Given the description of an element on the screen output the (x, y) to click on. 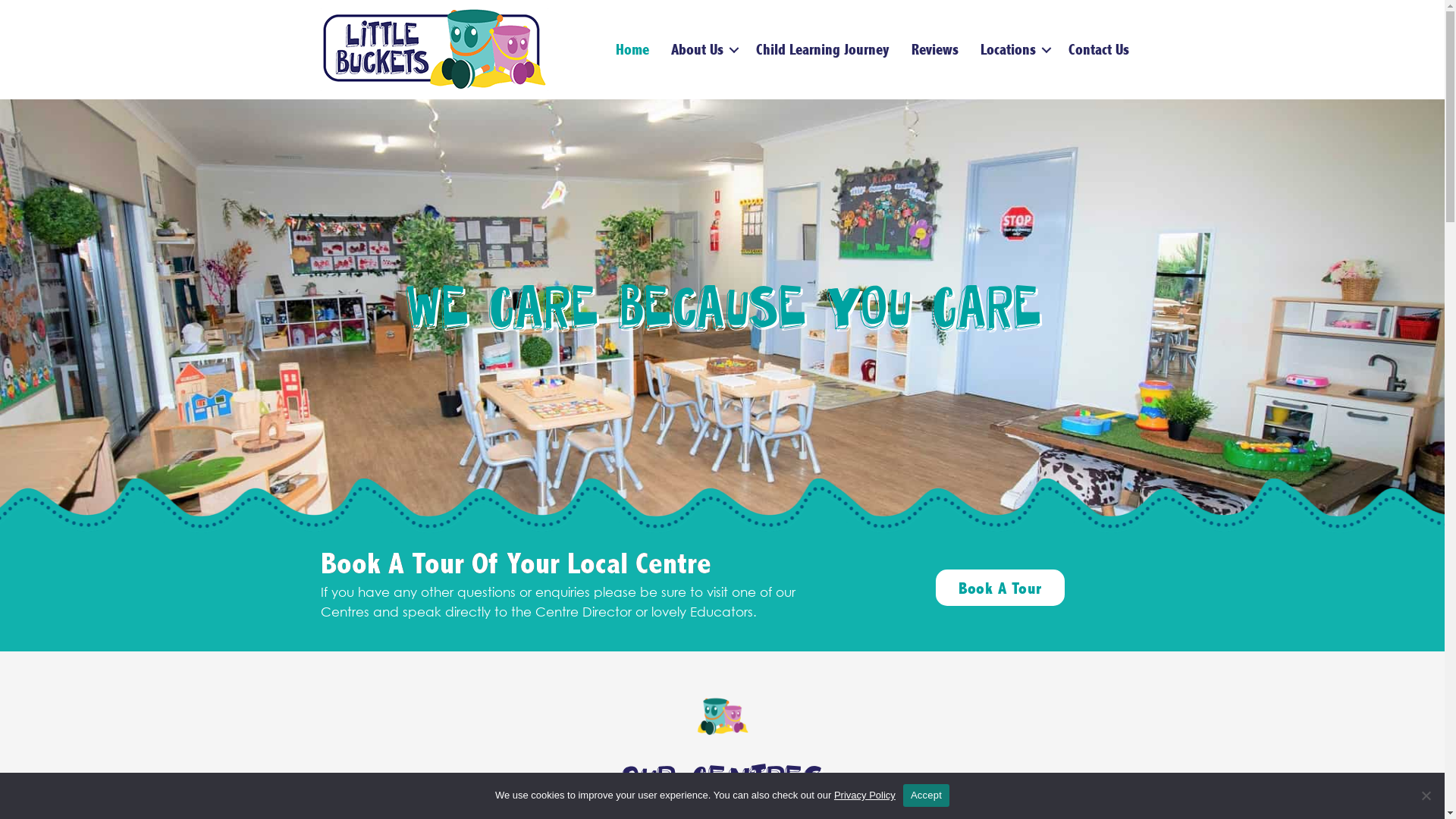
No Element type: hover (1425, 795)
Contact Us Element type: text (1098, 49)
Home Element type: text (632, 49)
Locations Element type: text (1012, 49)
Reviews Element type: text (934, 49)
Child Learning Journey Element type: text (821, 49)
Accept Element type: text (926, 795)
About Us Element type: text (701, 49)
logo-whites-300 Element type: hover (434, 49)
Book A Tour Element type: text (999, 587)
cropped-fav.png Element type: hover (722, 716)
Privacy Policy Element type: text (864, 794)
